Given the description of an element on the screen output the (x, y) to click on. 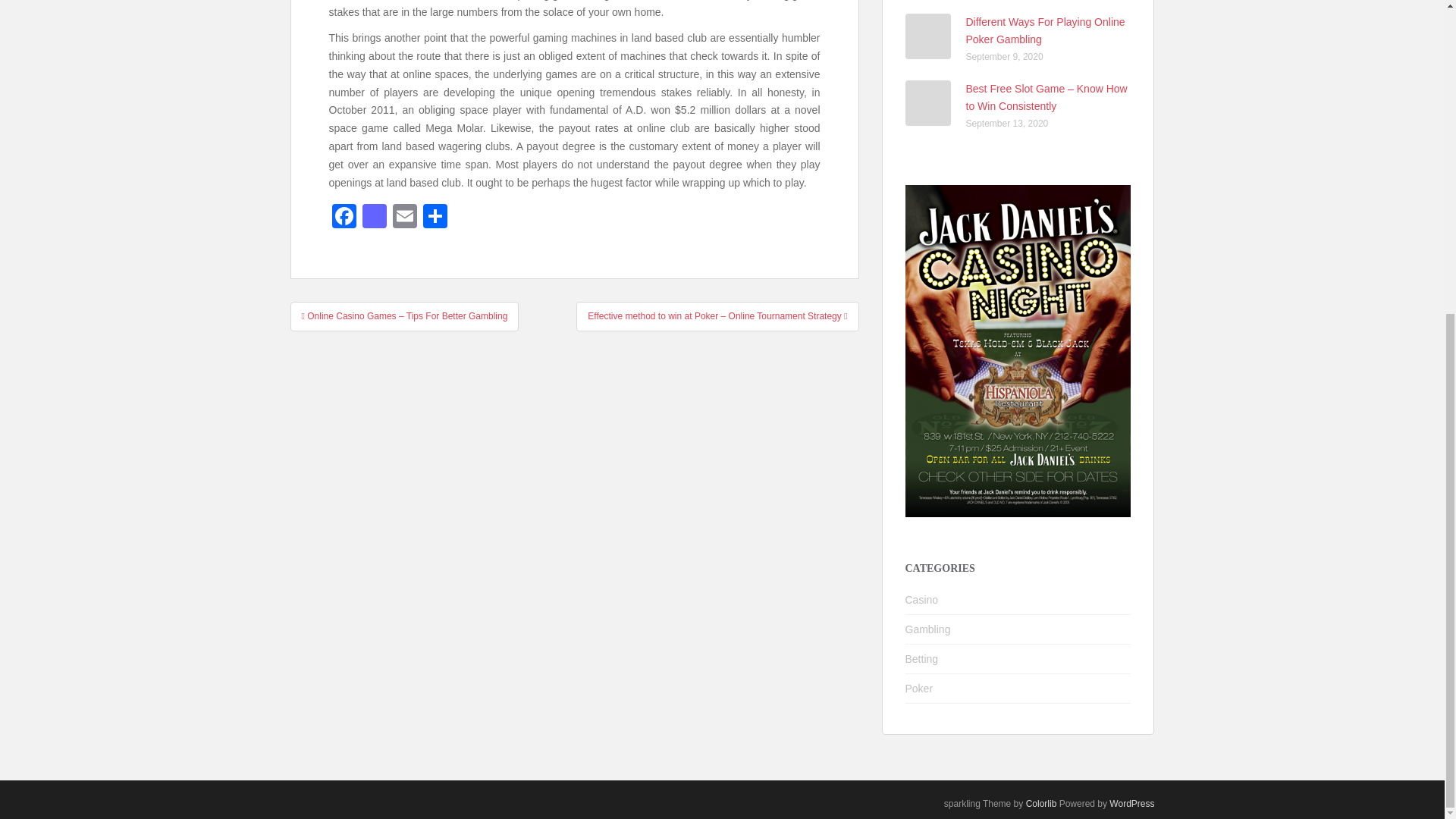
Facebook (344, 217)
Colorlib (1041, 803)
Email (405, 217)
Mastodon (374, 217)
WordPress (1131, 803)
Different Ways For Playing Online Poker Gambling (1045, 30)
Gambling (927, 629)
Betting (922, 658)
Mastodon (374, 217)
Casino (922, 599)
Facebook (344, 217)
Email (405, 217)
Poker (919, 688)
